Given the description of an element on the screen output the (x, y) to click on. 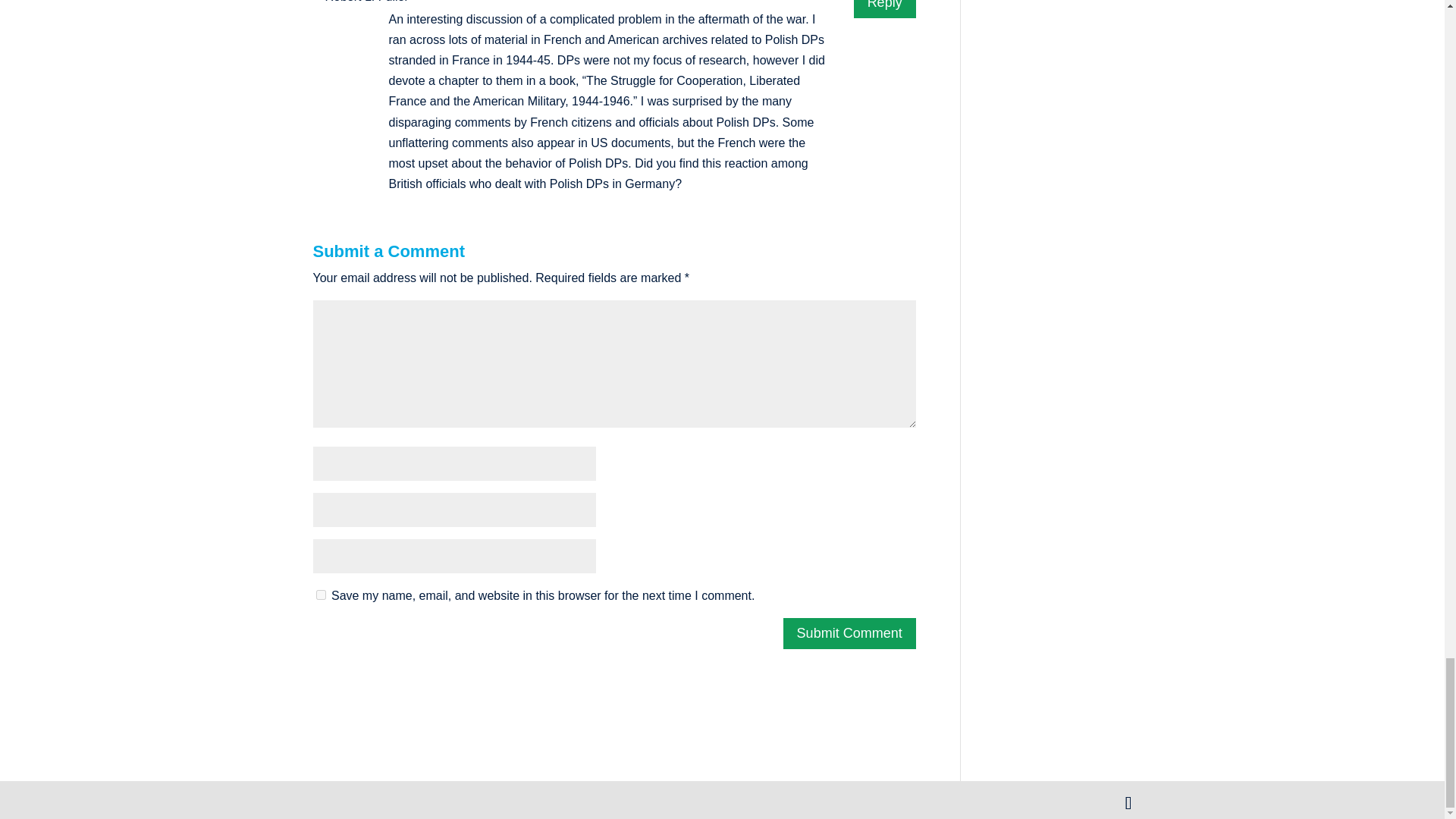
yes (319, 594)
Submit Comment (849, 633)
Reply (884, 8)
Submit Comment (849, 633)
